Given the description of an element on the screen output the (x, y) to click on. 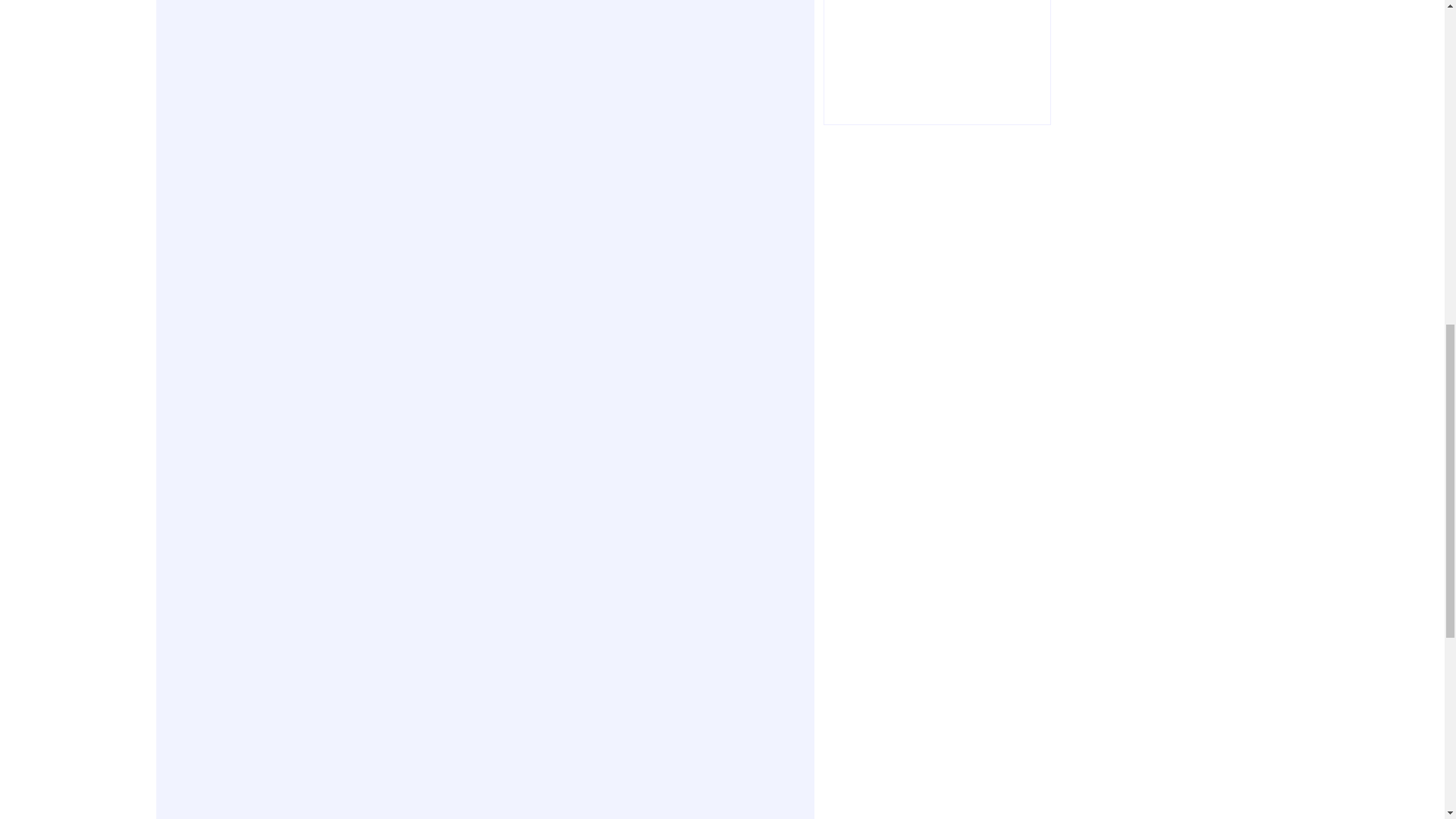
Advertisement (936, 62)
